Given the description of an element on the screen output the (x, y) to click on. 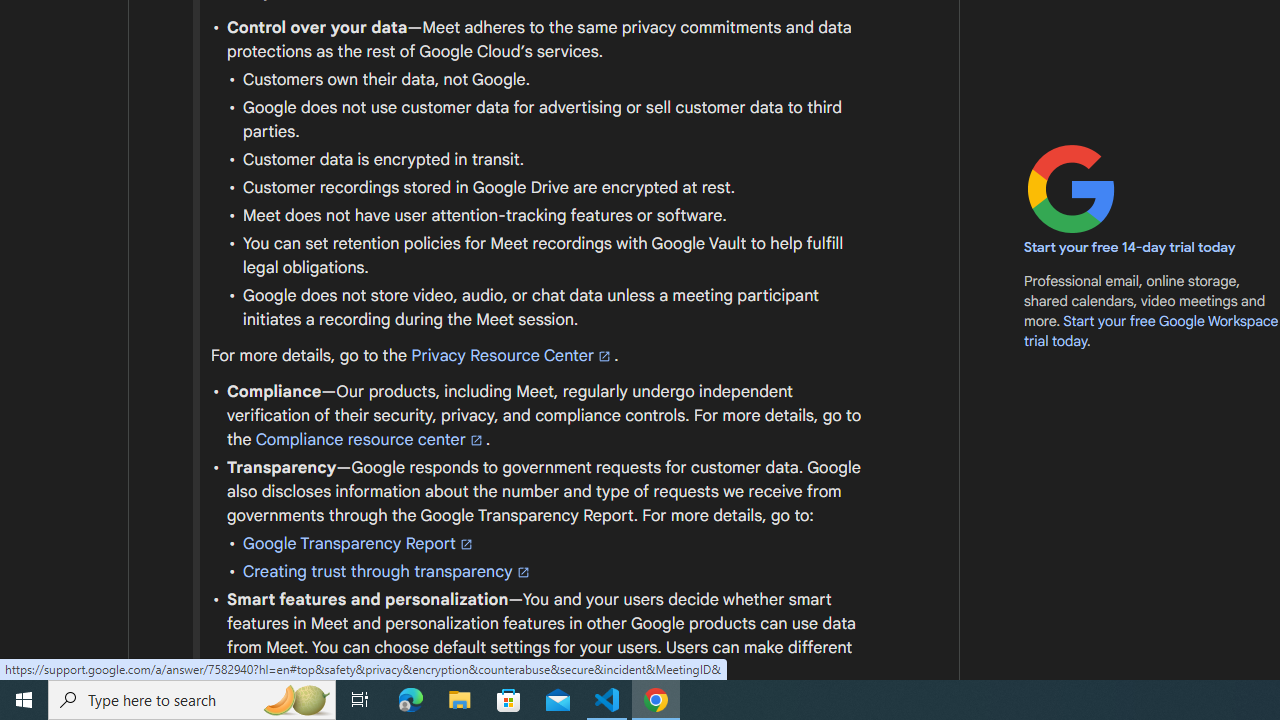
Start your free Google Workspace trial today (1151, 330)
Start your free 14-day trial today (1130, 247)
